Given the description of an element on the screen output the (x, y) to click on. 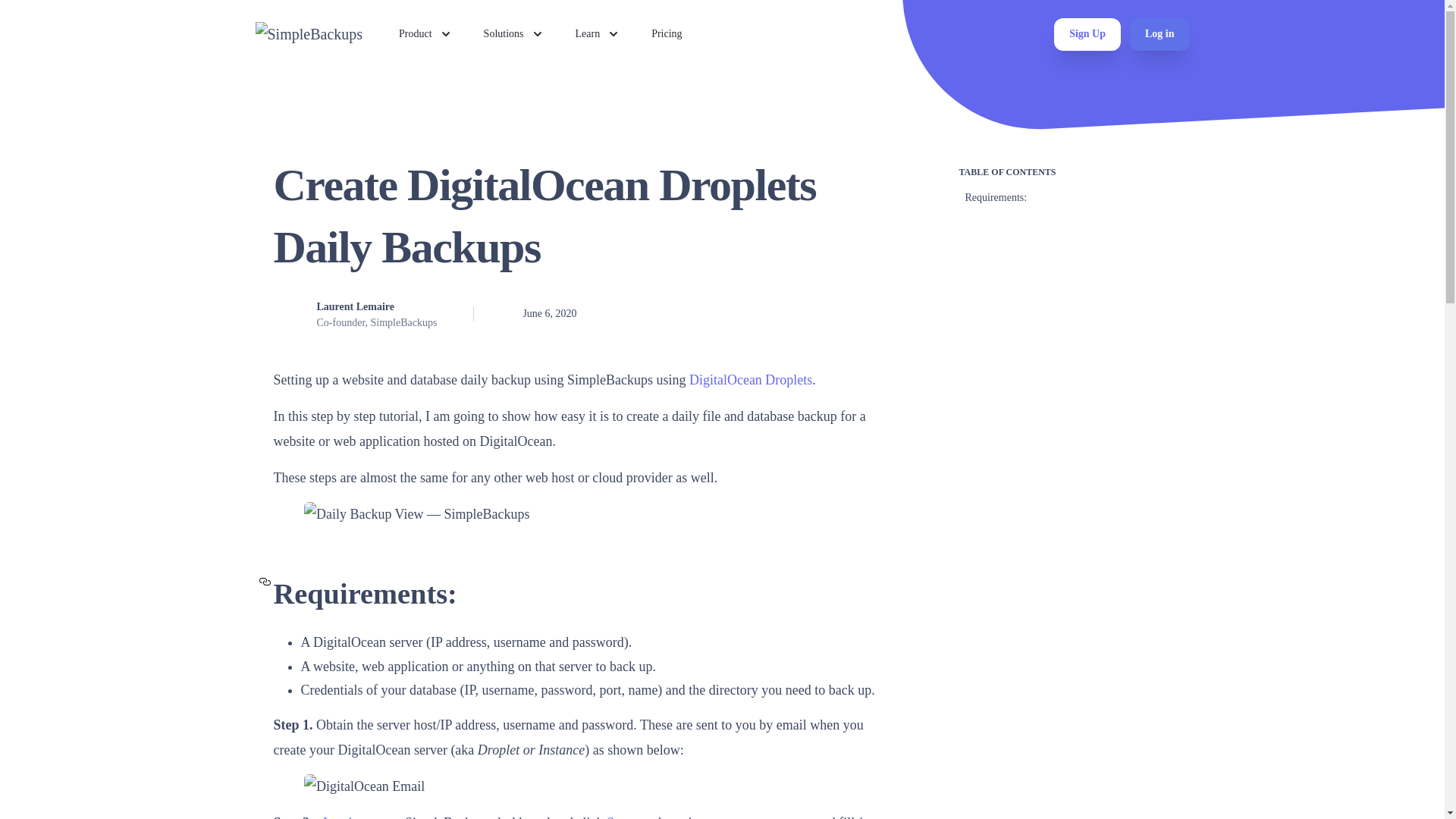
Learn (598, 33)
DigitalOcean Email (580, 785)
Pricing (665, 33)
SimpleBackups (308, 34)
Product (425, 33)
Requirements: (992, 197)
Log in (341, 816)
Sign Up (1087, 34)
Servers (627, 816)
Log in (1159, 34)
Solutions (513, 33)
DigitalOcean Droplets (750, 379)
